Given the description of an element on the screen output the (x, y) to click on. 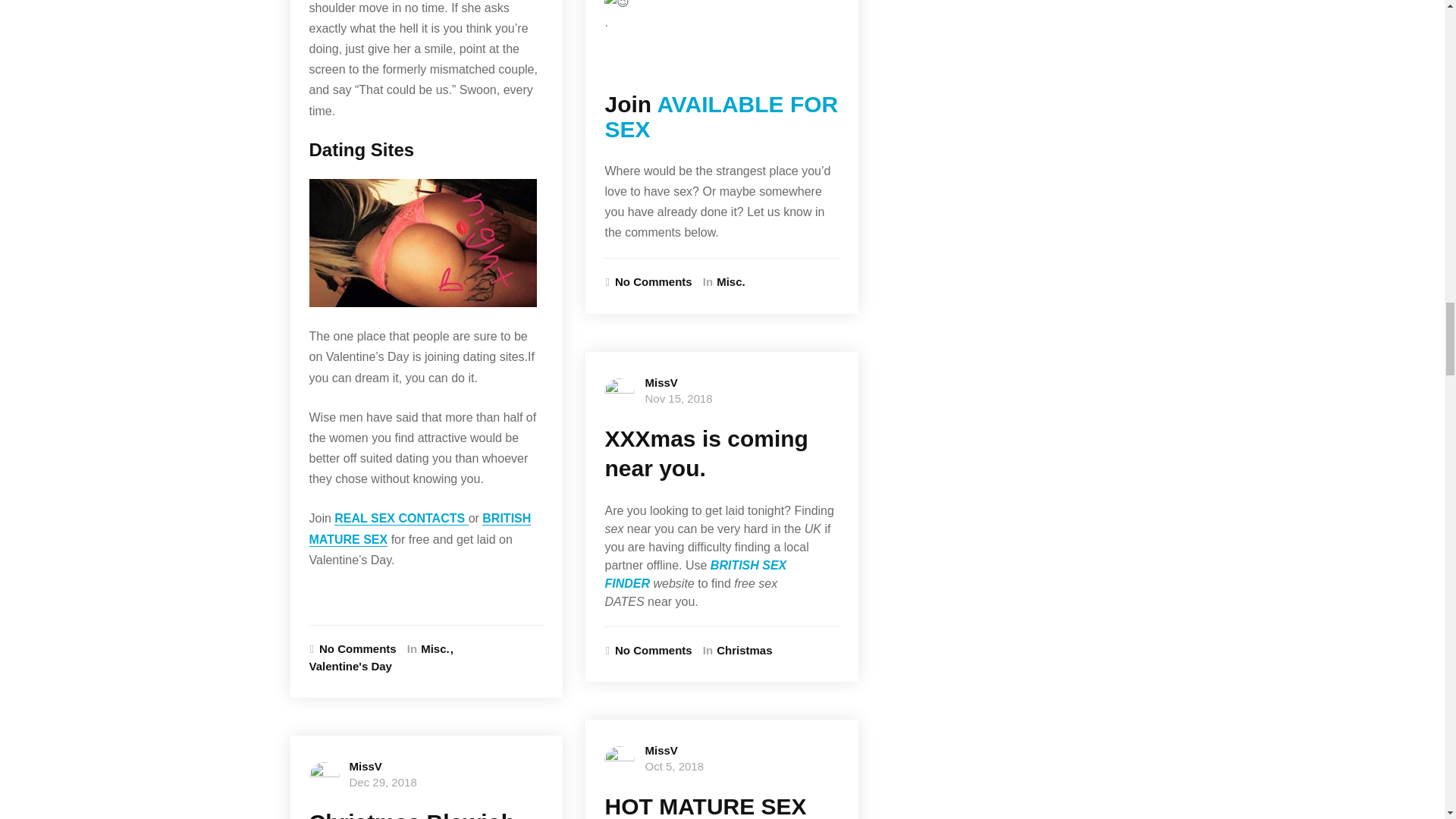
Valentine's Day (349, 666)
Misc. (438, 649)
Dec 29, 2018 (382, 781)
BRITISH MATURE SEX (419, 528)
No Comments (352, 649)
MissV (365, 766)
REAL SEX CONTACTS (400, 517)
Christmas Blowjob. (414, 814)
